Given the description of an element on the screen output the (x, y) to click on. 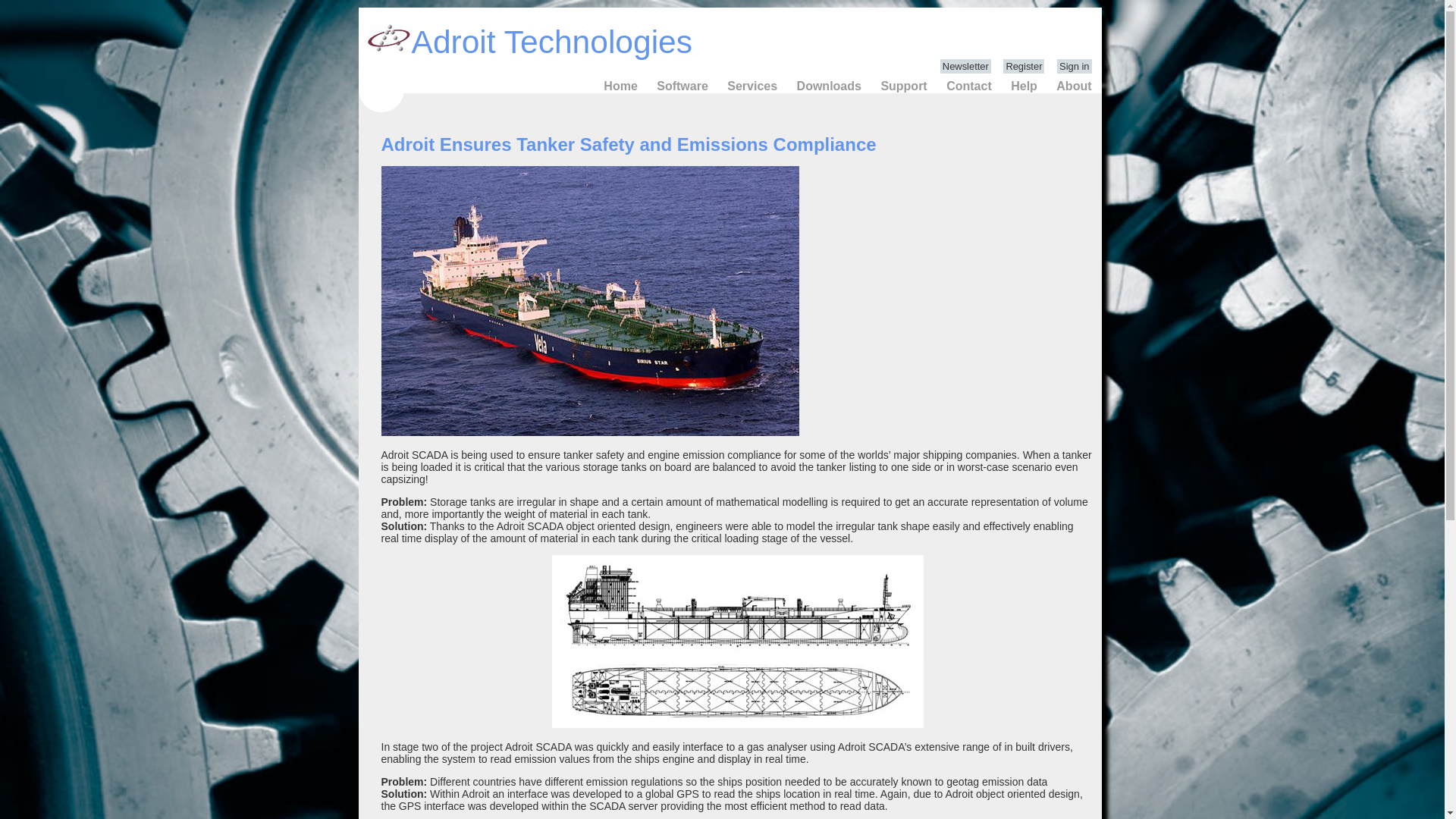
Sign in (1073, 65)
Downloads (828, 85)
Register (1023, 65)
Software (681, 85)
Home (620, 85)
Contact (968, 85)
Support (902, 85)
About (1073, 85)
Help (1024, 85)
Newsletter (965, 65)
Services (751, 85)
